Given the description of an element on the screen output the (x, y) to click on. 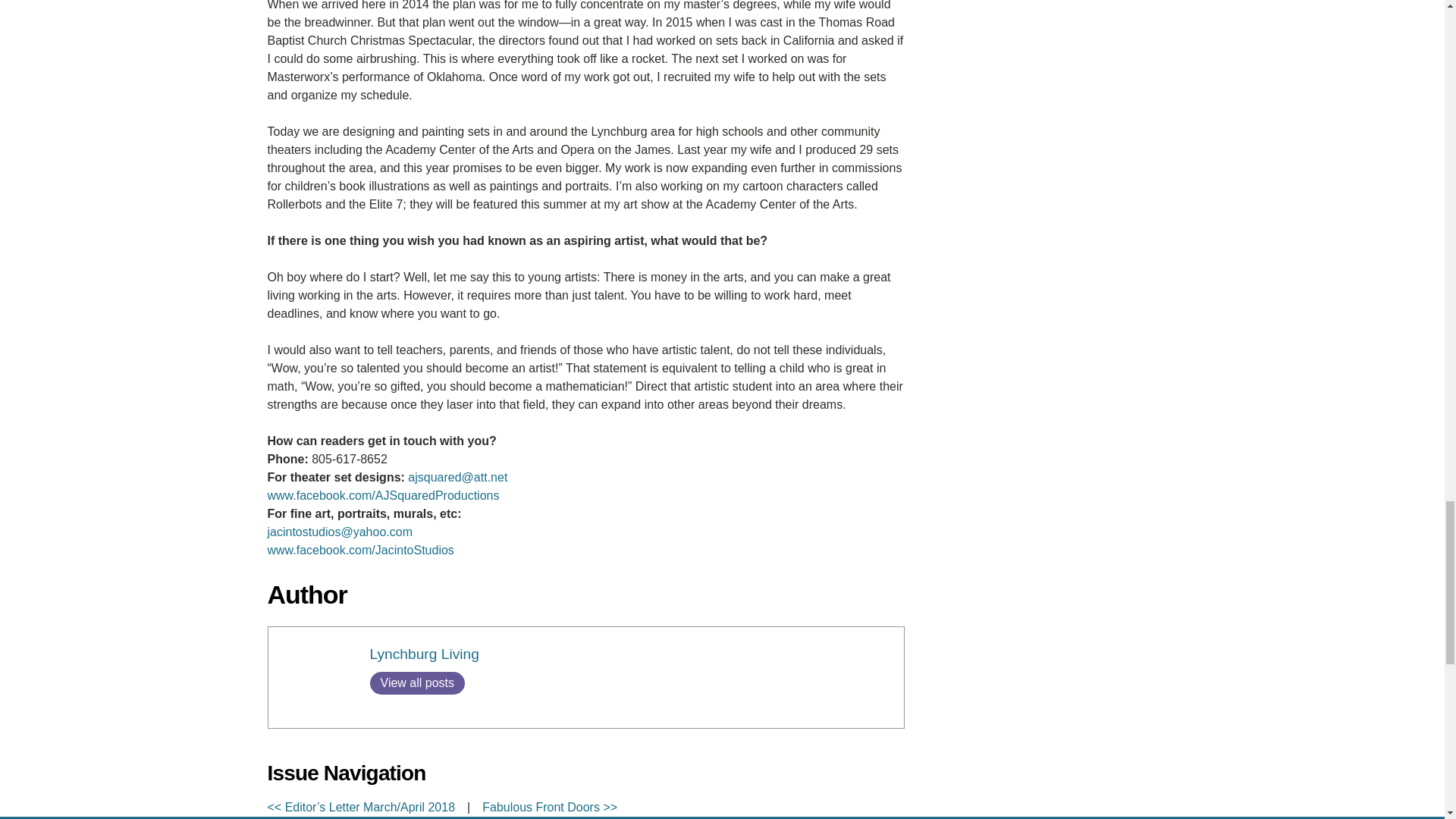
View all posts (417, 682)
Lynchburg Living (424, 653)
Lynchburg Living (424, 653)
View all posts (417, 682)
